Given the description of an element on the screen output the (x, y) to click on. 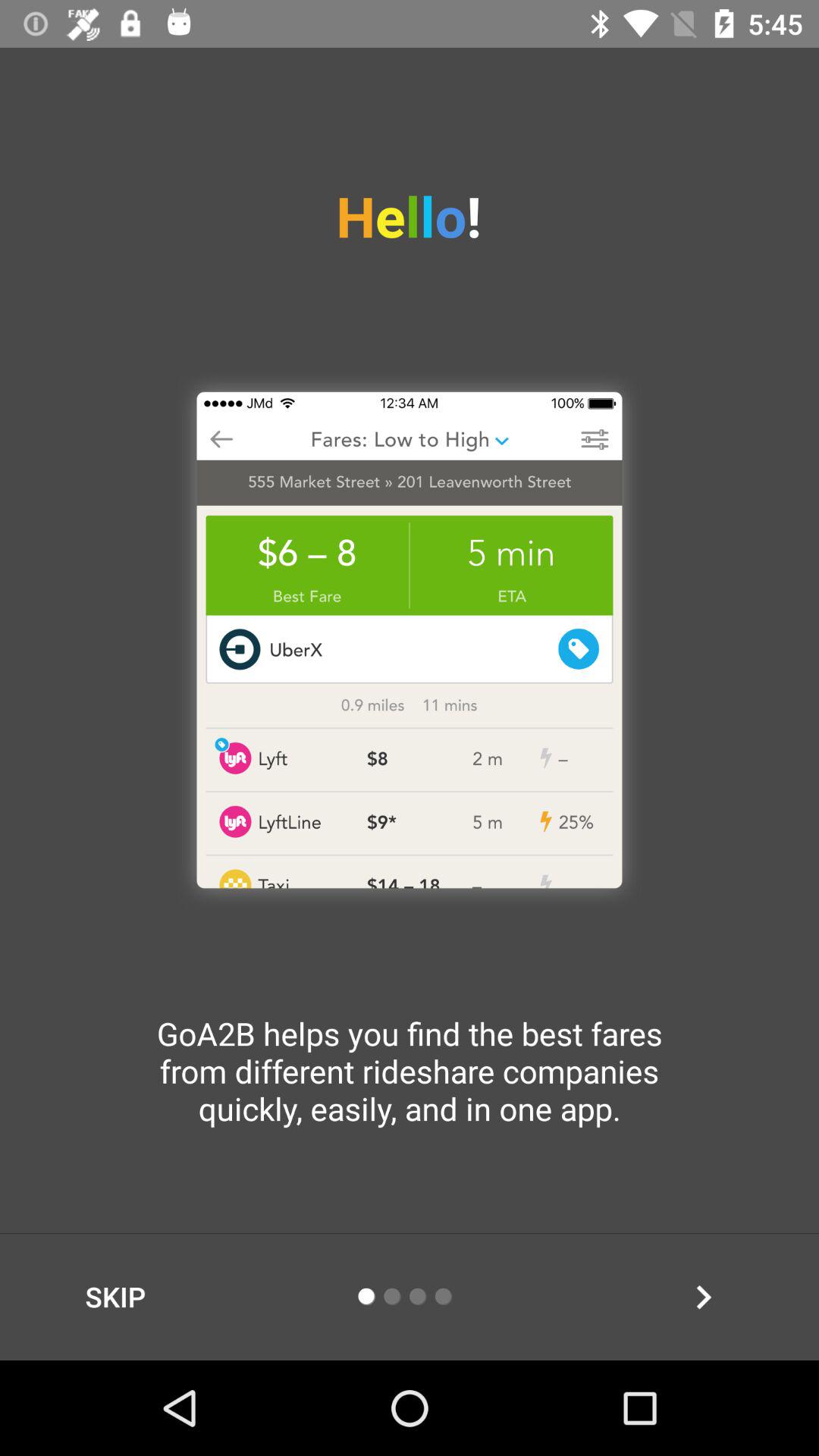
turn on the item at the bottom left corner (114, 1296)
